Given the description of an element on the screen output the (x, y) to click on. 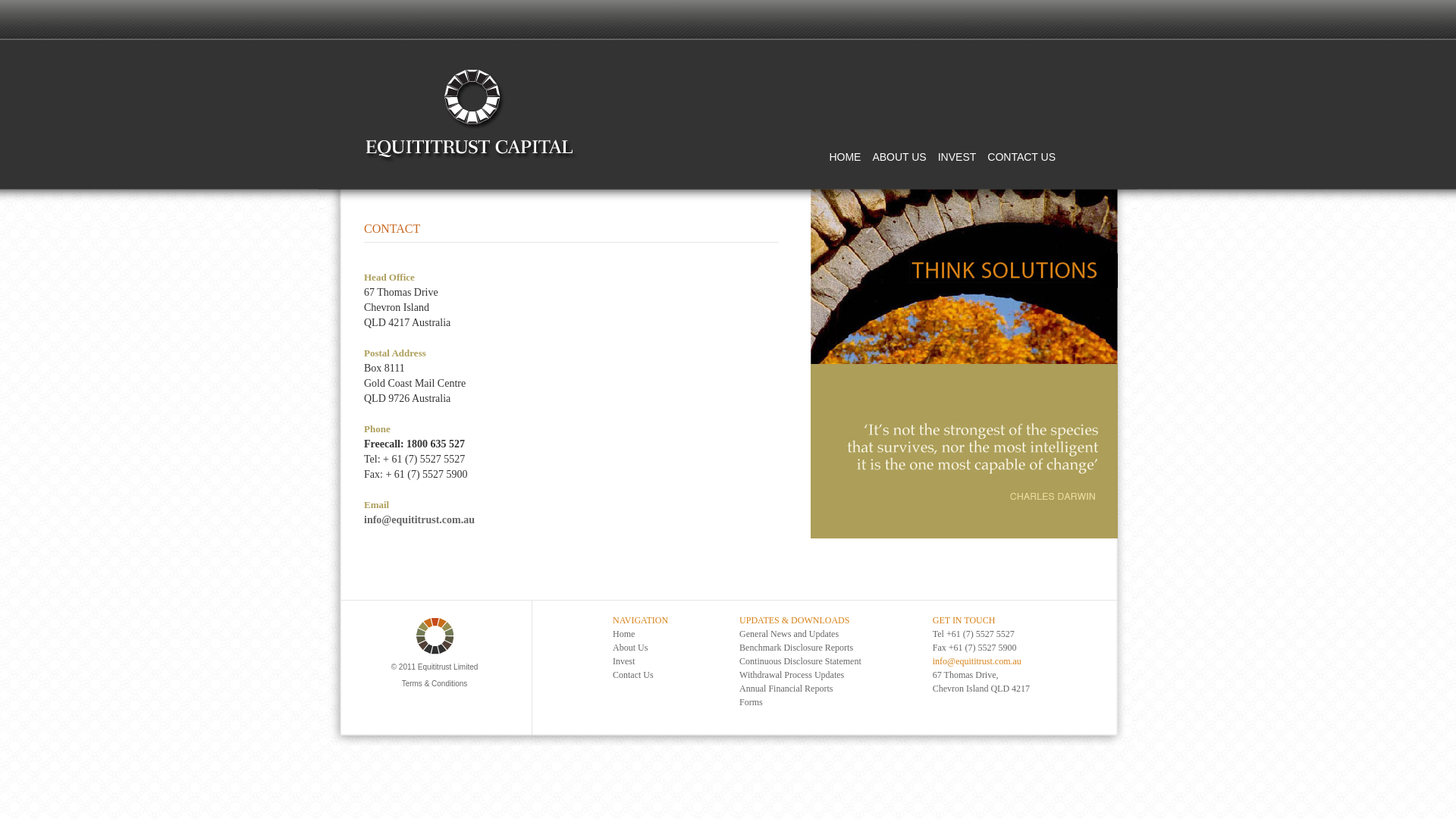
Annual Financial Reports Element type: text (785, 688)
ABOUT US Element type: text (898, 156)
General News and Updates Element type: text (788, 633)
Terms & Conditions Element type: text (434, 679)
Forms Element type: text (750, 701)
info@equititrust.com.au Element type: text (976, 660)
INVEST Element type: text (957, 156)
CONTACT US Element type: text (1021, 156)
Benchmark Disclosure Reports Element type: text (796, 647)
Withdrawal Process Updates Element type: text (791, 674)
Contact Us Element type: text (632, 674)
Home Element type: text (623, 633)
Invest Element type: text (623, 660)
info@equititrust.com.au Element type: text (419, 519)
HOME Element type: text (844, 156)
About Us Element type: text (629, 647)
Continuous Disclosure Statement Element type: text (800, 660)
